Given the description of an element on the screen output the (x, y) to click on. 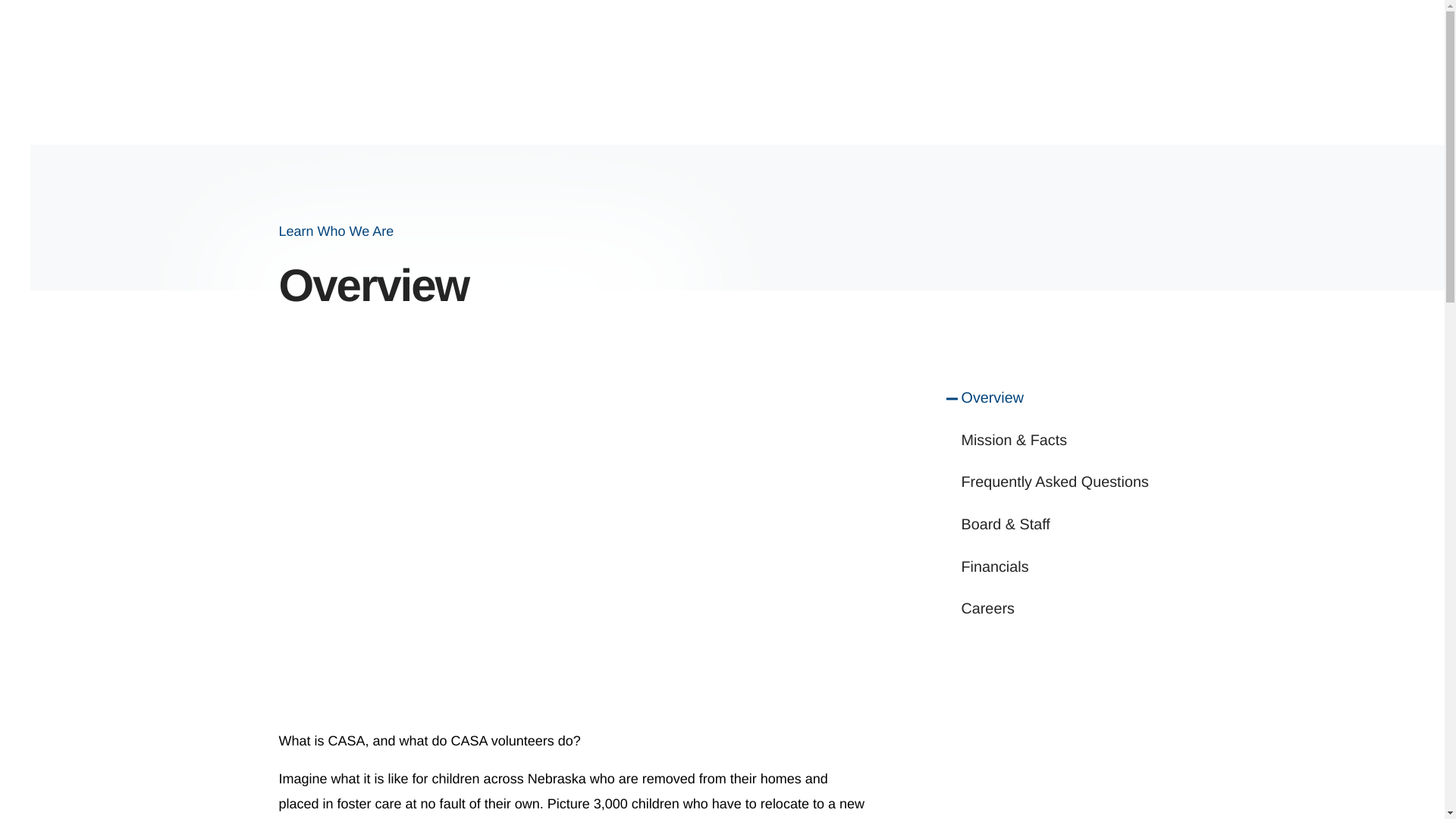
Frequently Asked Questions (1063, 482)
Careers (1063, 609)
Overview (1063, 398)
Financials (1063, 567)
